Given the description of an element on the screen output the (x, y) to click on. 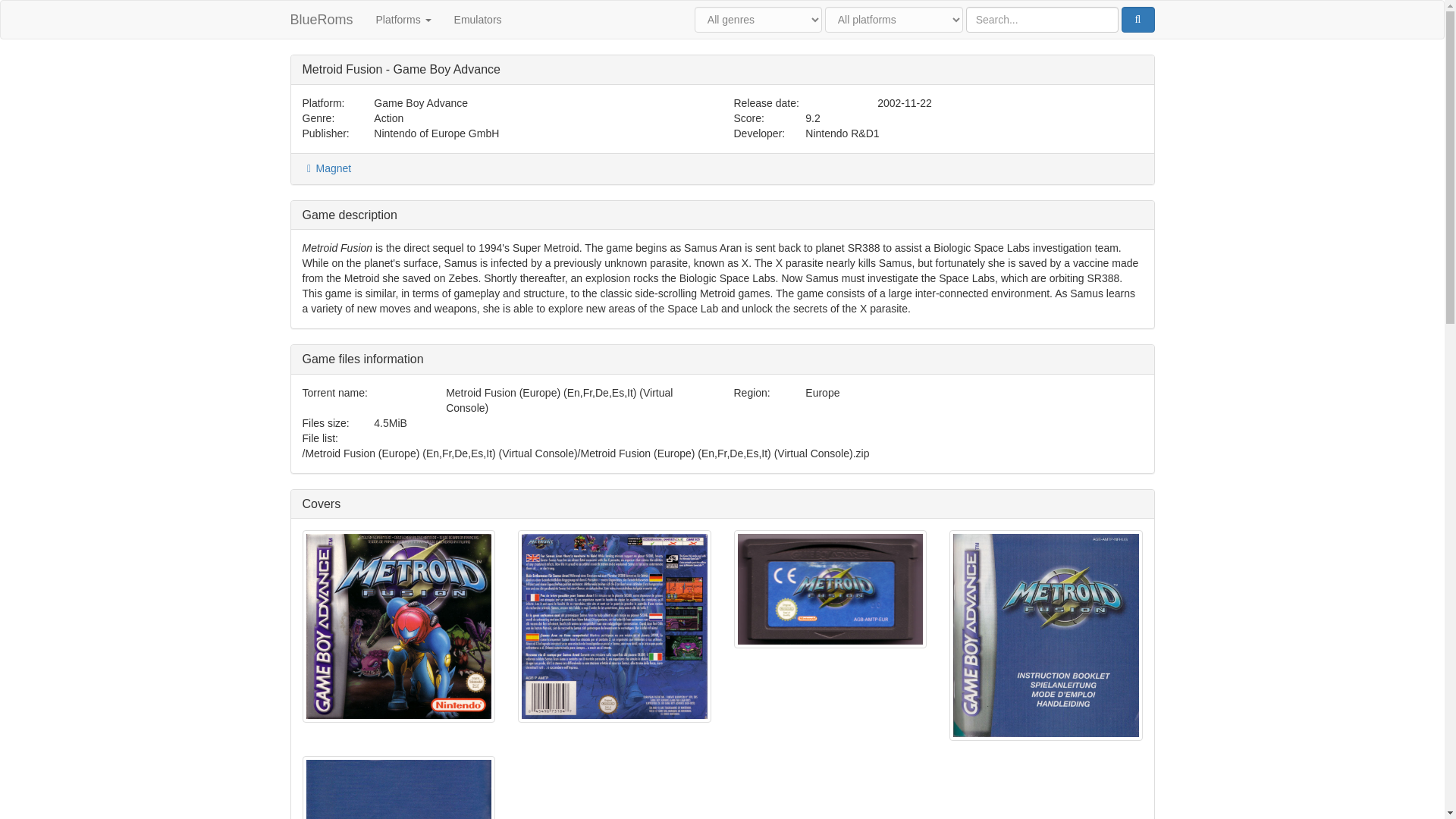
BlueRoms (322, 19)
Magnet (325, 168)
Emulators (477, 19)
Platforms (403, 19)
